Given the description of an element on the screen output the (x, y) to click on. 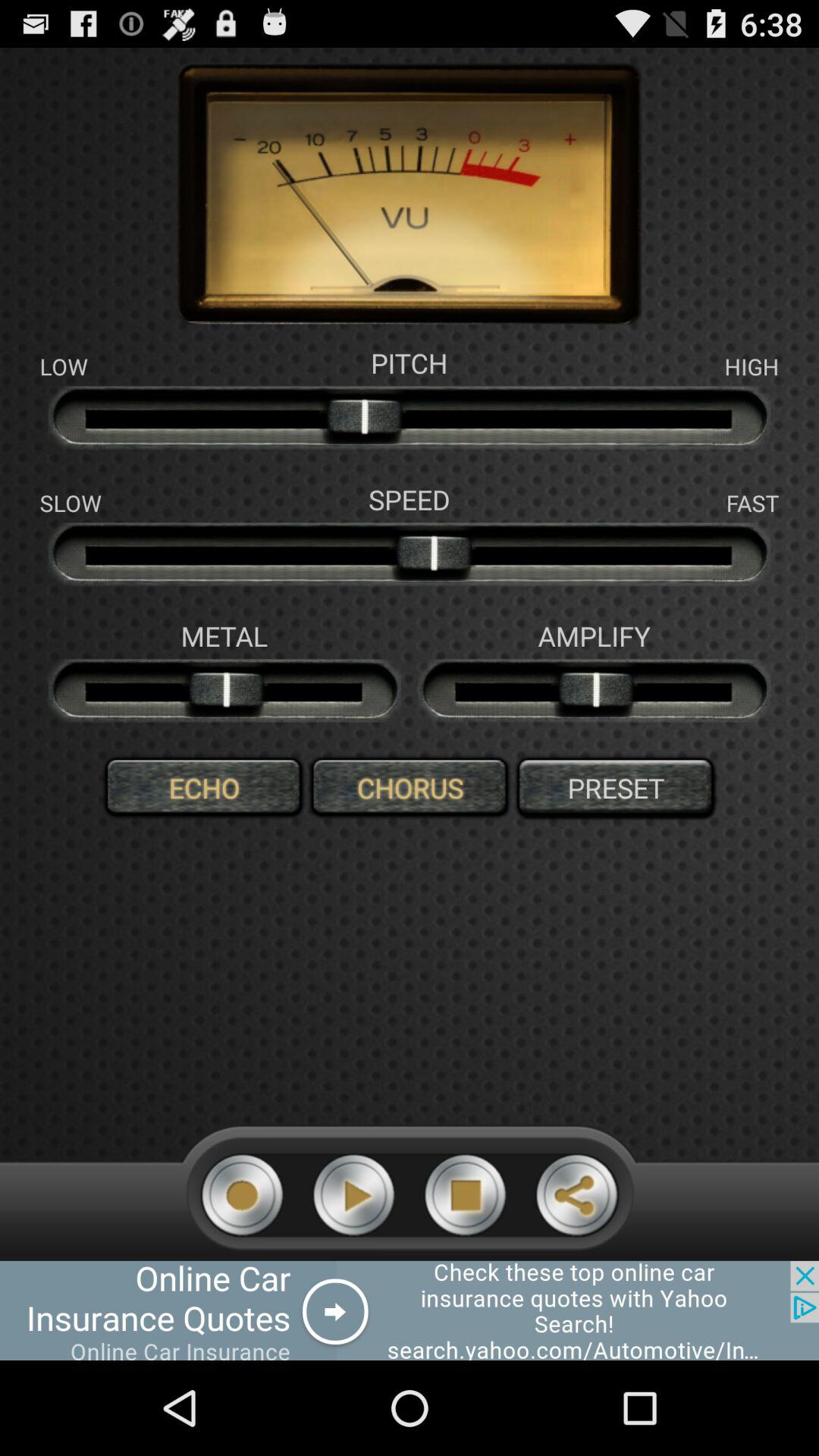
record microphone (242, 1195)
